Given the description of an element on the screen output the (x, y) to click on. 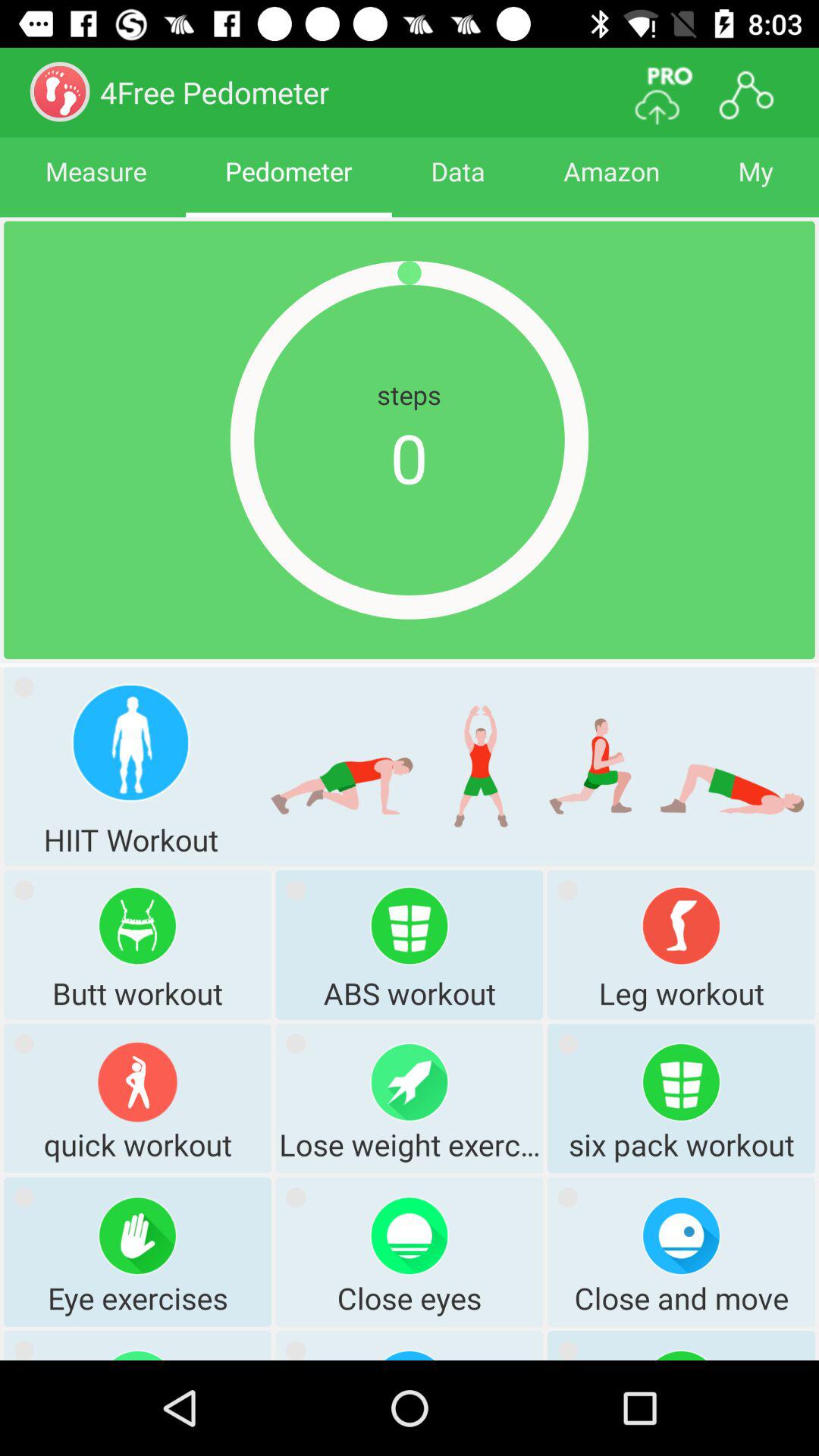
jump to amazon item (611, 185)
